Given the description of an element on the screen output the (x, y) to click on. 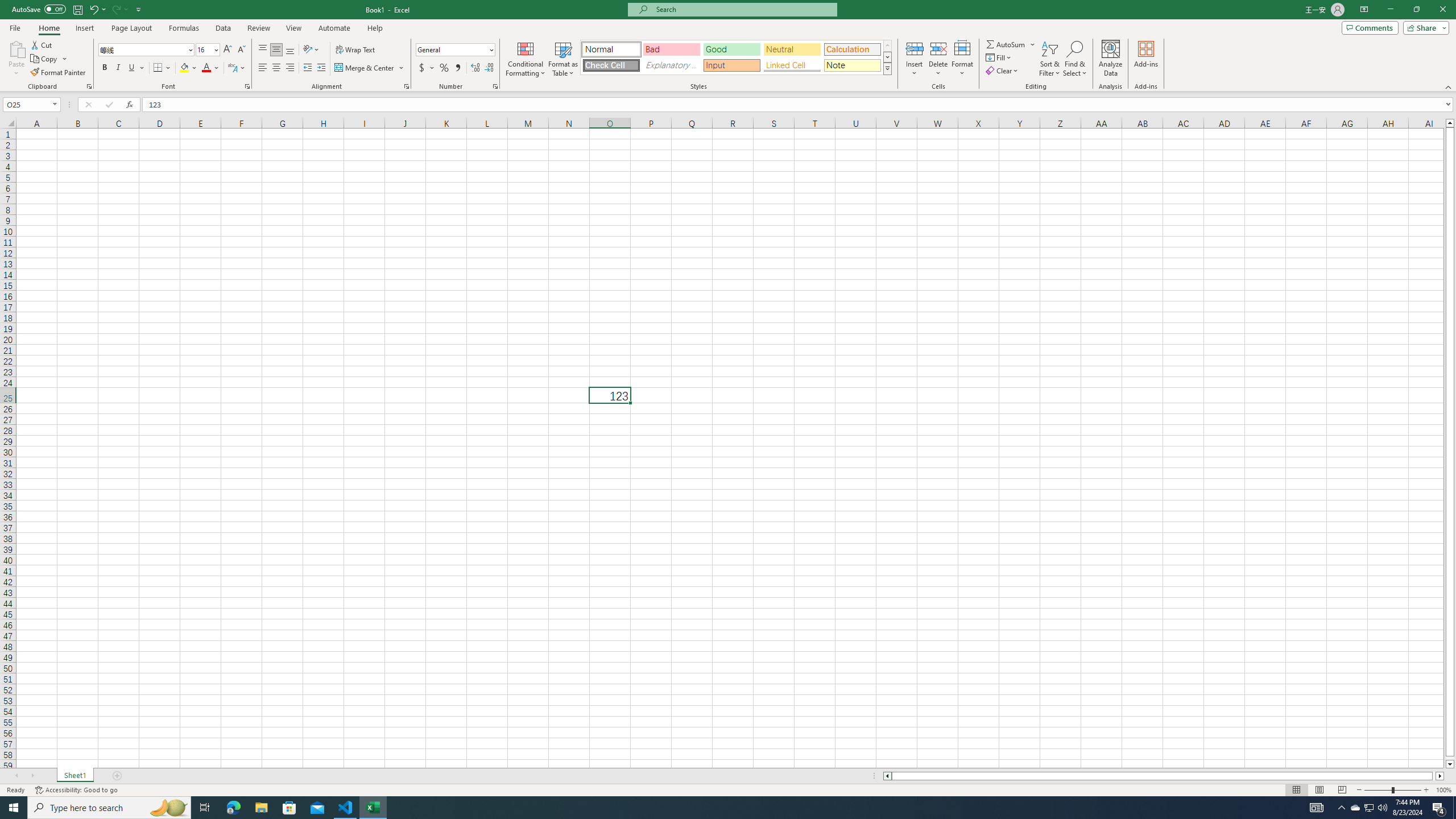
Font (142, 49)
Zoom (1392, 790)
View (293, 28)
Scroll Right (32, 775)
Insert (83, 28)
Conditional Formatting (525, 58)
Percent Style (443, 67)
Copy (45, 58)
Center (276, 67)
Sum (1006, 44)
Borders (162, 67)
Merge & Center (365, 67)
Paste (16, 48)
